Given the description of an element on the screen output the (x, y) to click on. 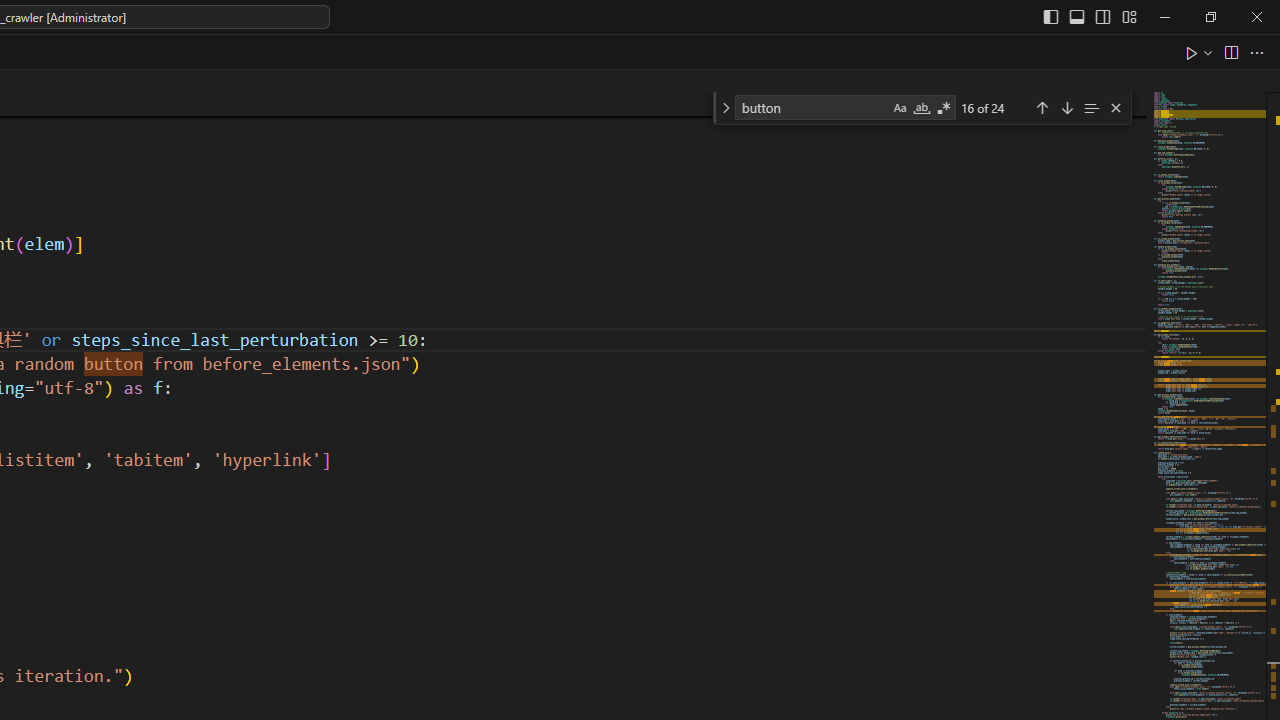
Find (812, 106)
Previous Match (Shift+Enter) (1041, 106)
Customize Layout... (1128, 16)
Close (Escape) (1115, 107)
Toggle Replace (725, 107)
Split Editor Right (Ctrl+\) [Alt] Split Editor Down (1230, 52)
Run Python File (1192, 52)
Match Case (Alt+C) (899, 107)
Run or Debug... (1208, 52)
More Actions... (1256, 52)
Next Match (Enter) (1066, 106)
Use Regular Expression (Alt+R) (943, 107)
Toggle Panel (Ctrl+J) (1077, 16)
